Given the description of an element on the screen output the (x, y) to click on. 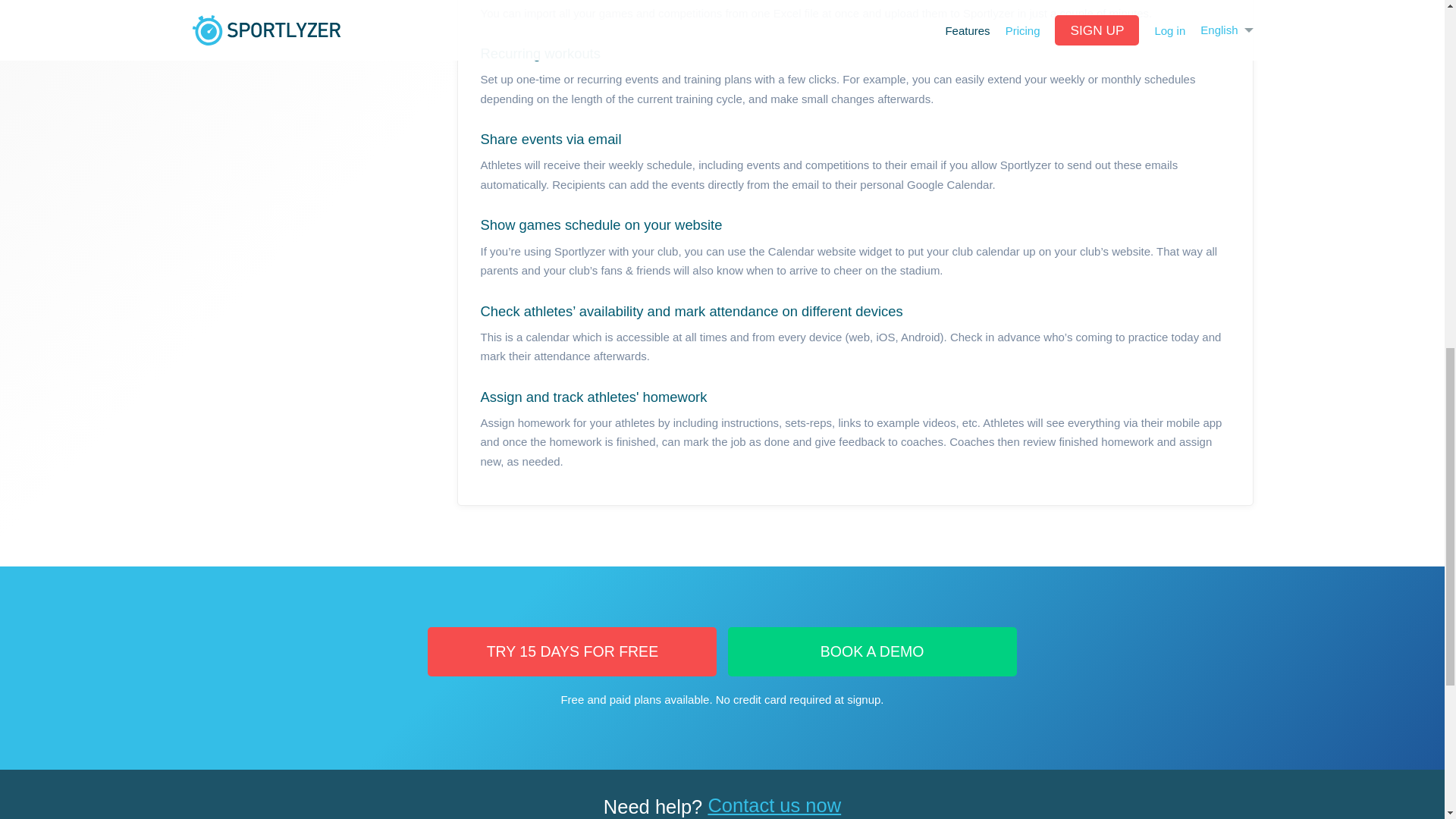
TRY 15 DAYS FOR FREE (572, 651)
BOOK A DEMO (872, 651)
Contact us now (774, 804)
